Given the description of an element on the screen output the (x, y) to click on. 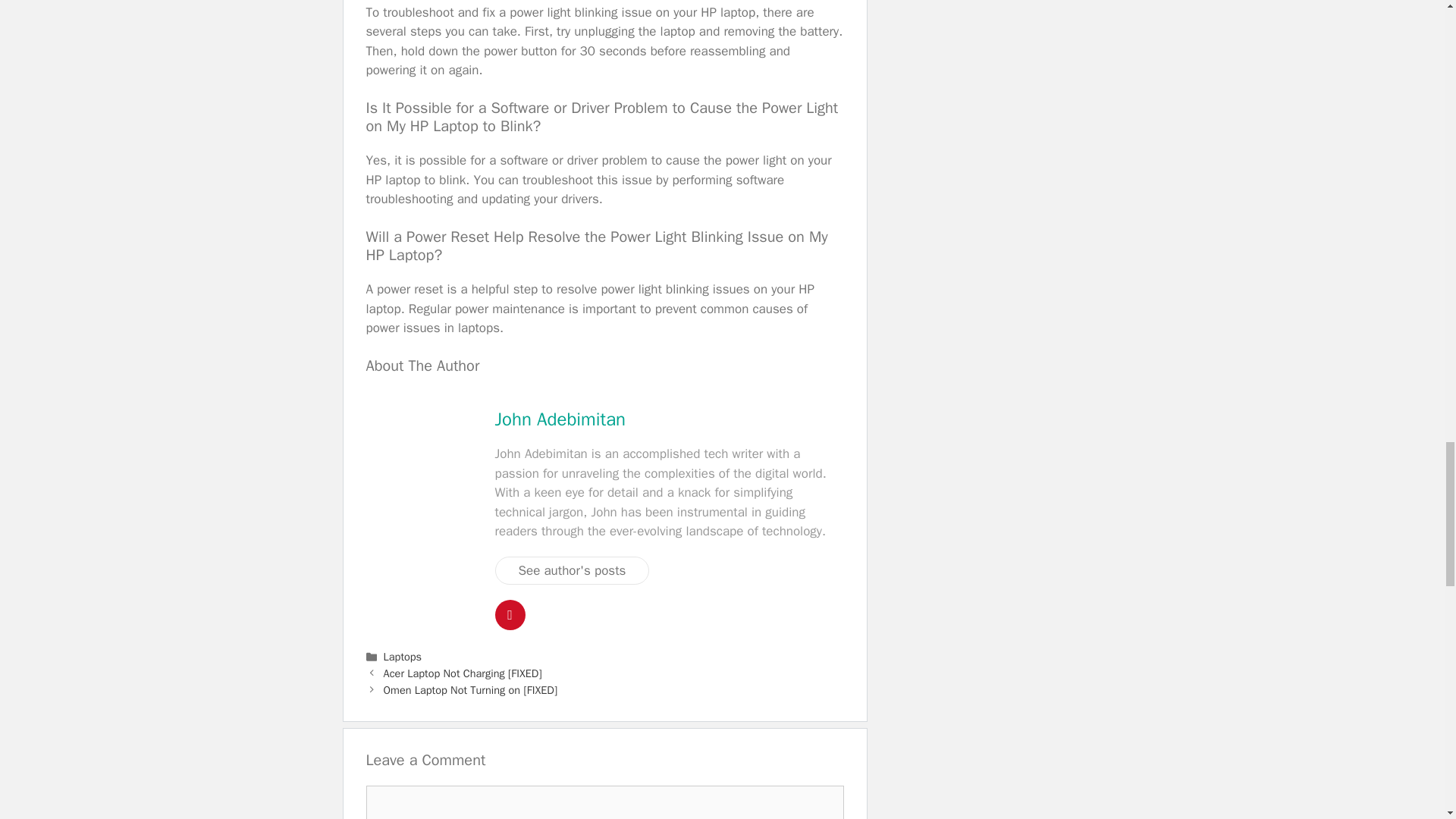
See author's posts (572, 570)
John Adebimitan (560, 418)
